Given the description of an element on the screen output the (x, y) to click on. 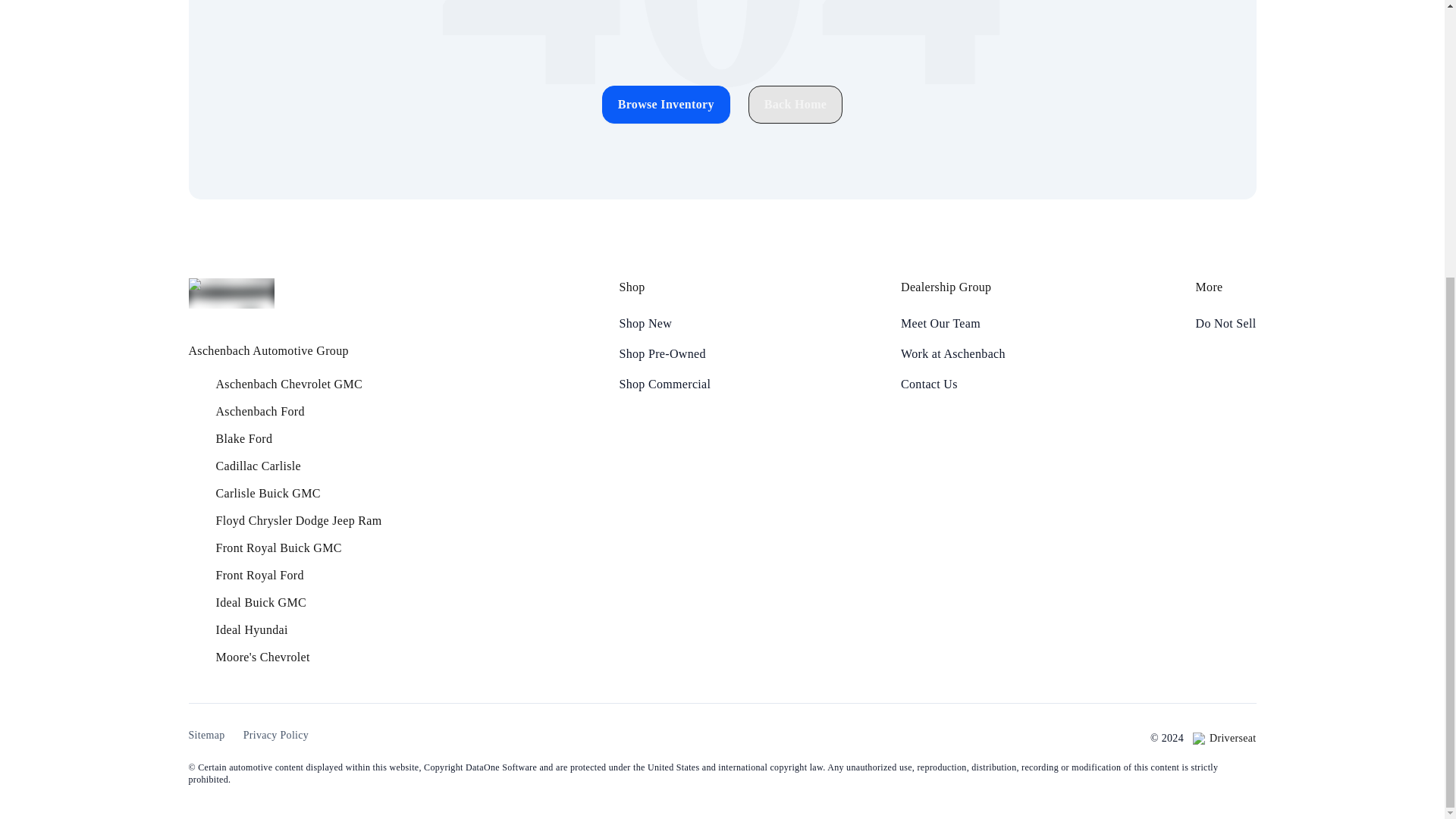
Do Not Sell (1225, 323)
Shop Commercial (664, 384)
Privacy Policy (275, 735)
Browse Inventory (666, 104)
Driverseat (1224, 738)
Sitemap (205, 735)
Shop New (664, 323)
DataOne Software (501, 767)
Back Home (795, 104)
Contact Us (953, 384)
Shop Pre-Owned (664, 353)
Meet Our Team (953, 323)
Work at Aschenbach (953, 353)
